Given the description of an element on the screen output the (x, y) to click on. 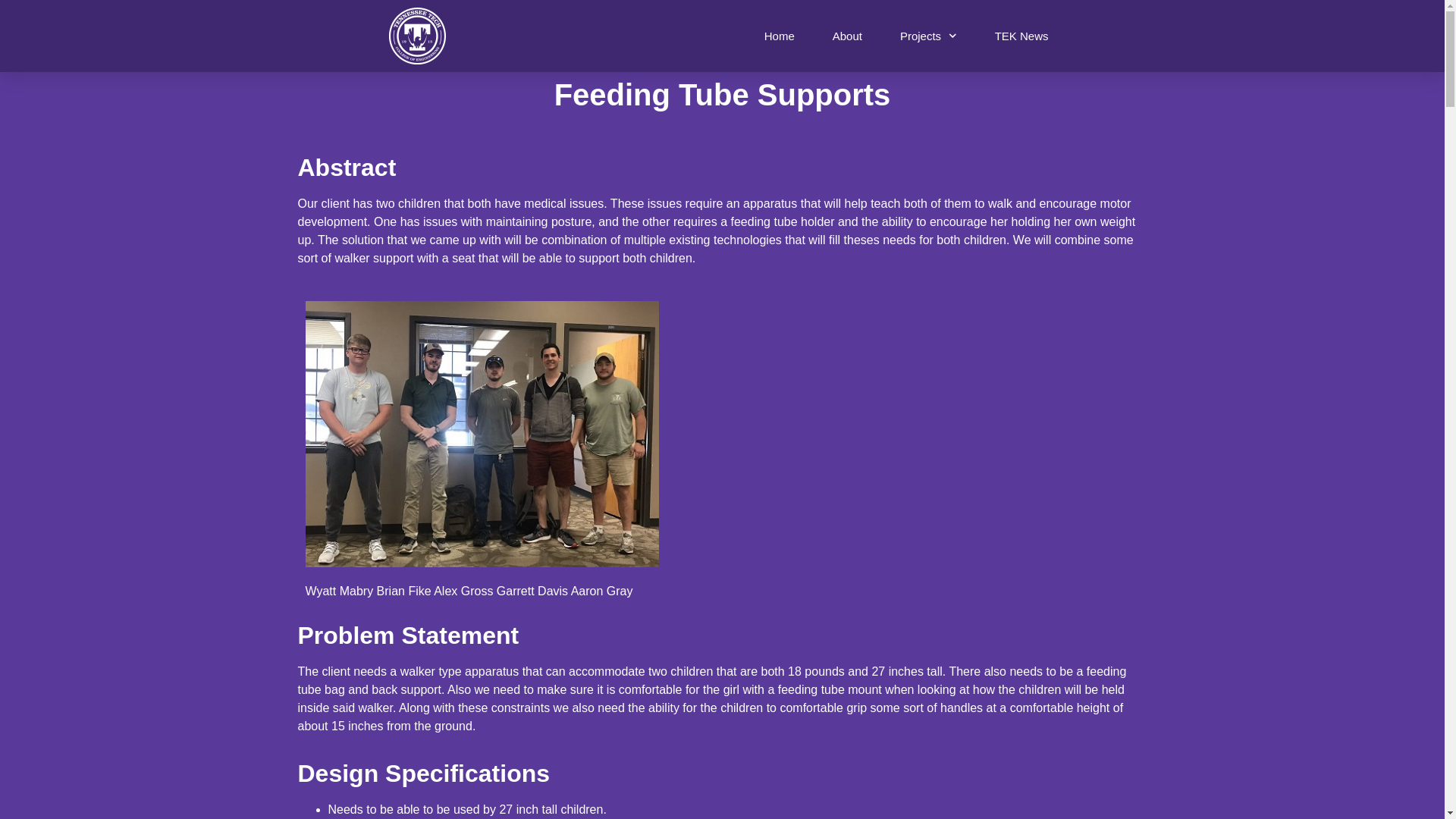
college of engineering white (416, 35)
